Given the description of an element on the screen output the (x, y) to click on. 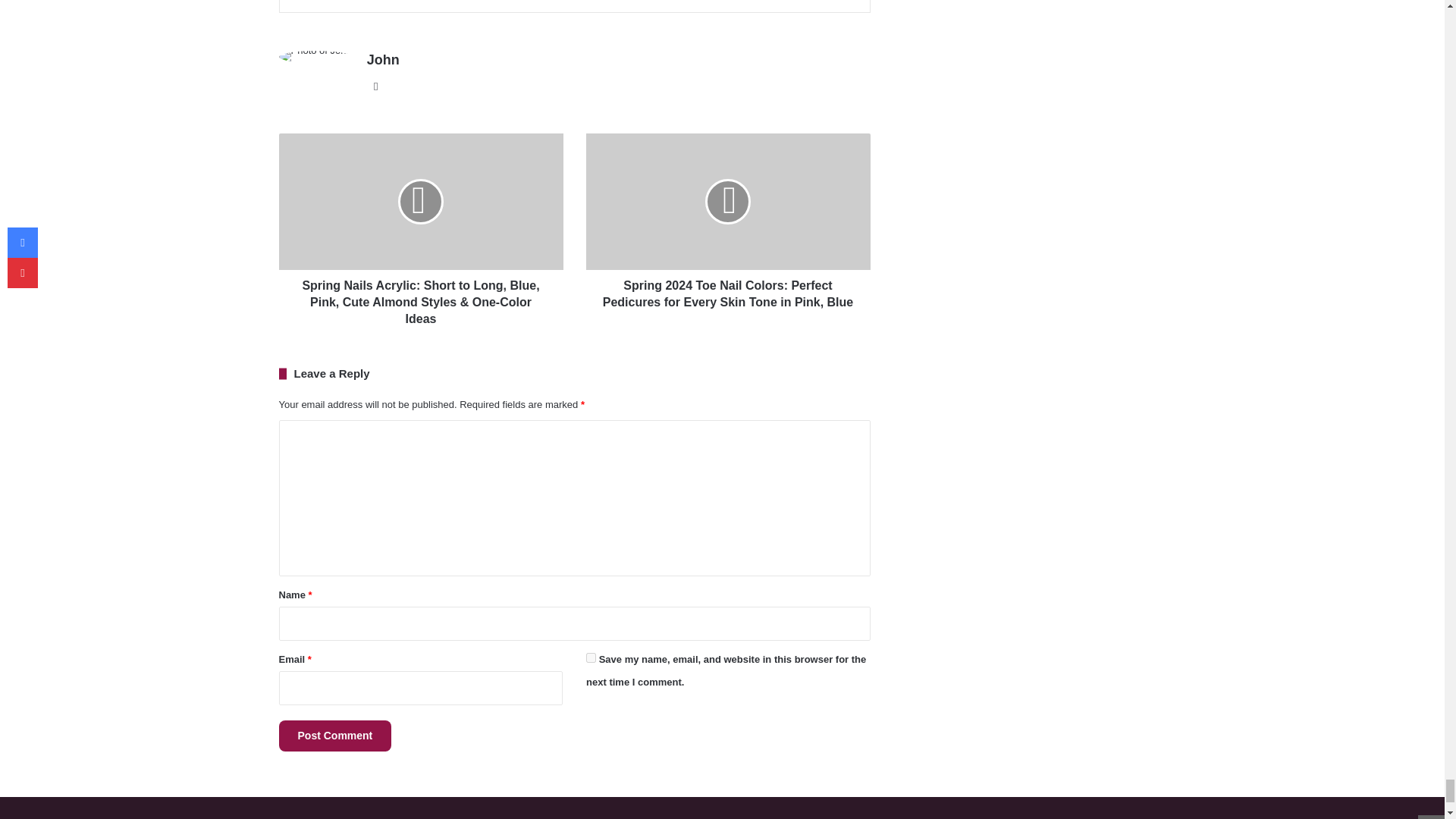
Website (375, 85)
Post Comment (335, 735)
yes (590, 657)
Post Comment (335, 735)
John (382, 59)
